Given the description of an element on the screen output the (x, y) to click on. 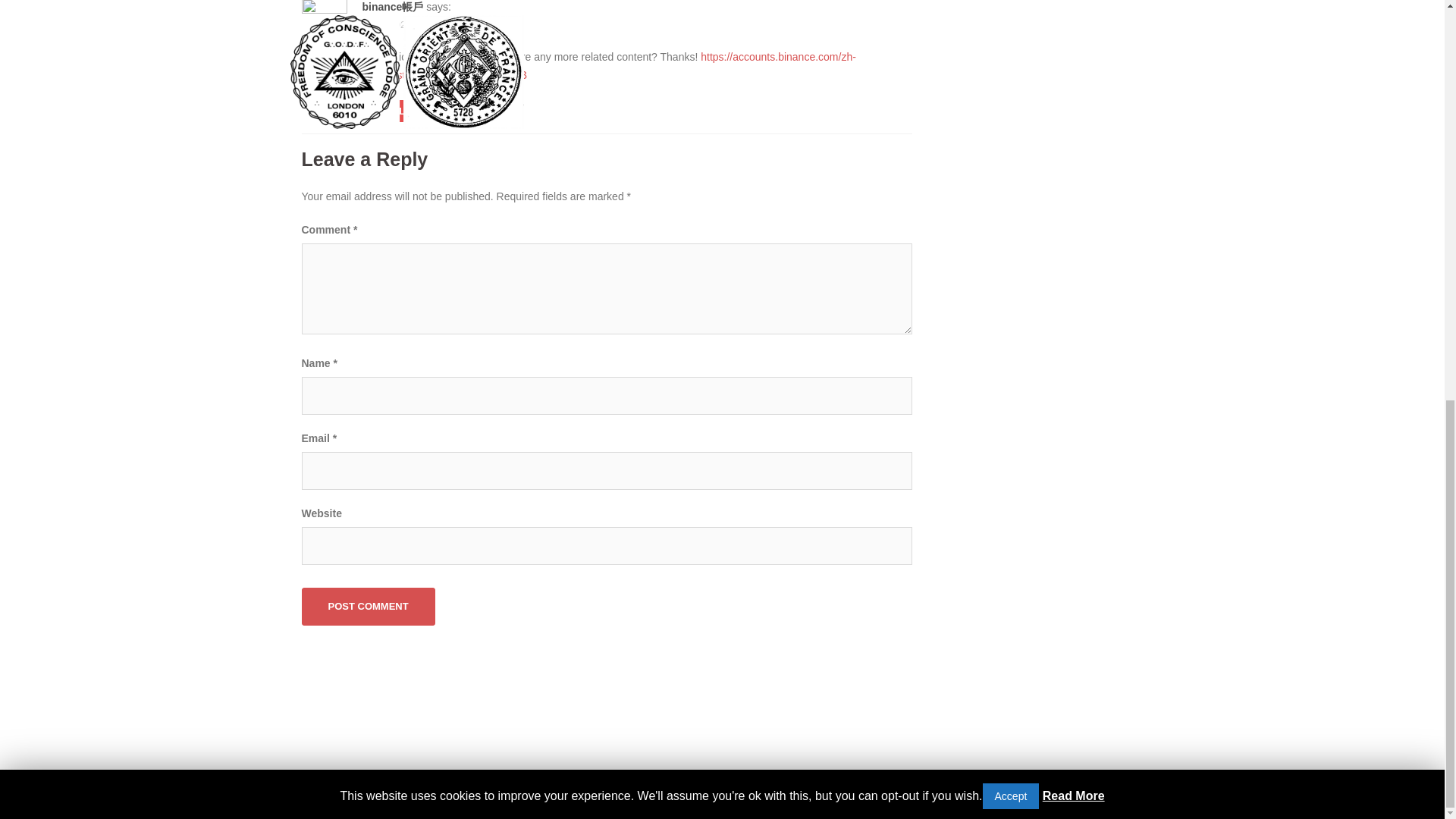
Proudly powered by WordPress (364, 793)
Sydney (504, 793)
REPLY (395, 110)
Accept (1010, 12)
Post Comment (368, 606)
Post Comment (368, 606)
Read More (1073, 12)
